Given the description of an element on the screen output the (x, y) to click on. 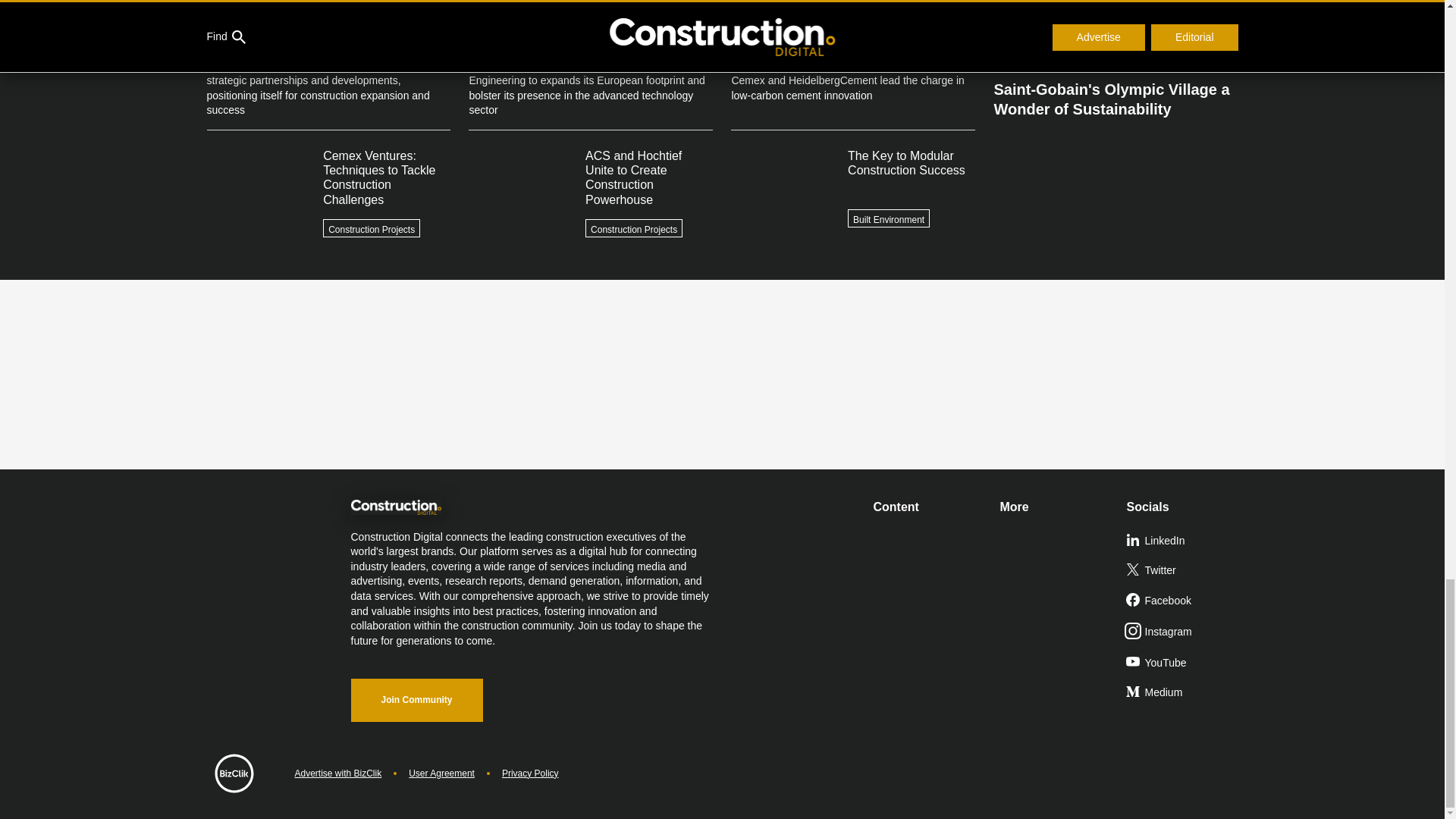
Linarc: How AI is Rebuilding the Construction Industry (1114, 35)
Saint-Gobain's Olympic Village a Wonder of Sustainability (1114, 92)
LinkedIn (1182, 541)
Twitter (1182, 571)
Join Community (415, 699)
